Given the description of an element on the screen output the (x, y) to click on. 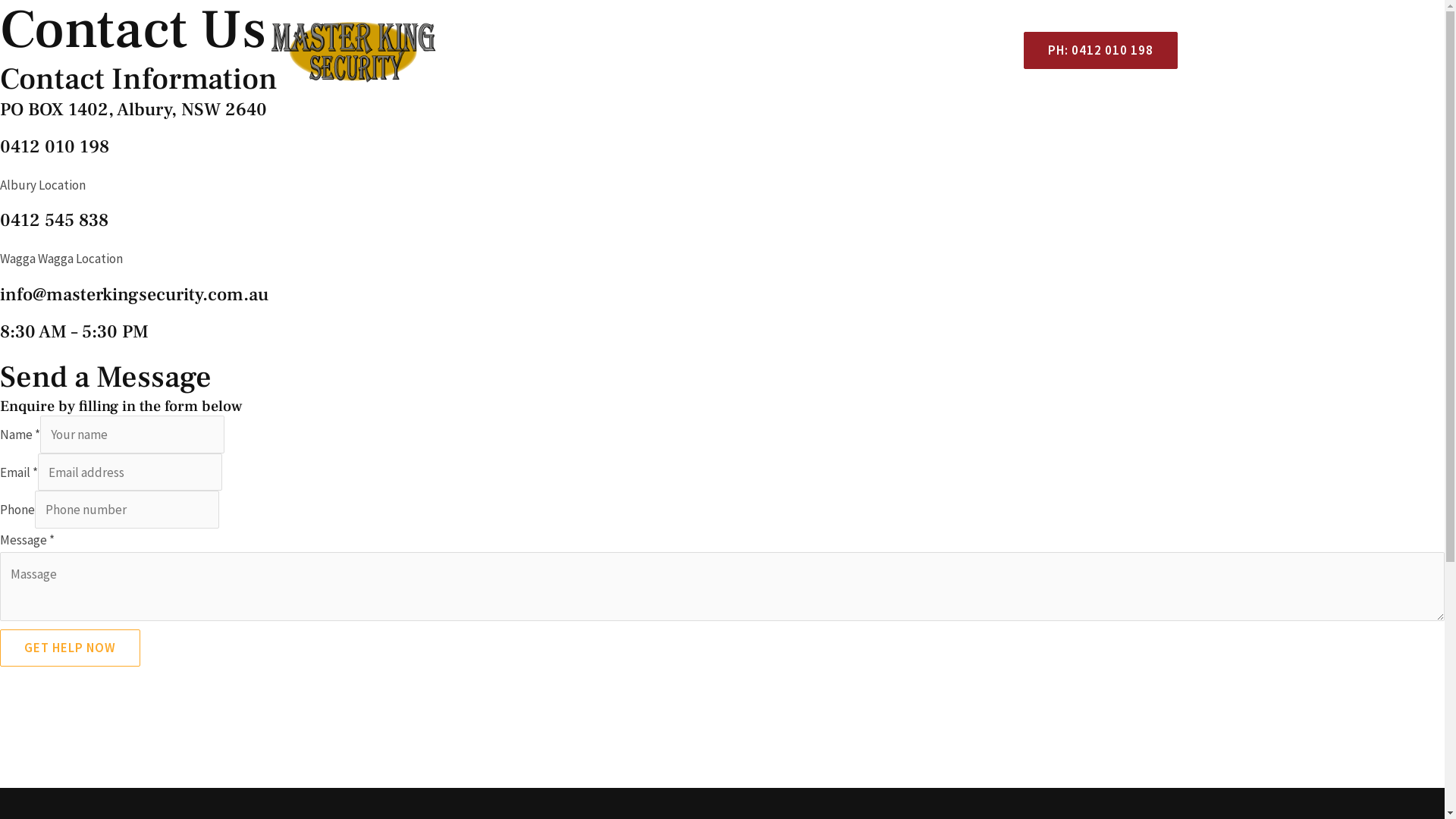
HOME Element type: text (772, 128)
ABOUT Element type: text (906, 128)
AREAS Element type: text (966, 128)
WORK WITH US Element type: text (1048, 128)
GET HELP NOW Element type: text (70, 647)
Master King Security Lavington Element type: hover (113, 723)
PH: 0412 010 198 Element type: text (1094, 50)
CONTACT Element type: text (1138, 128)
SERVICES Element type: text (837, 128)
